Given the description of an element on the screen output the (x, y) to click on. 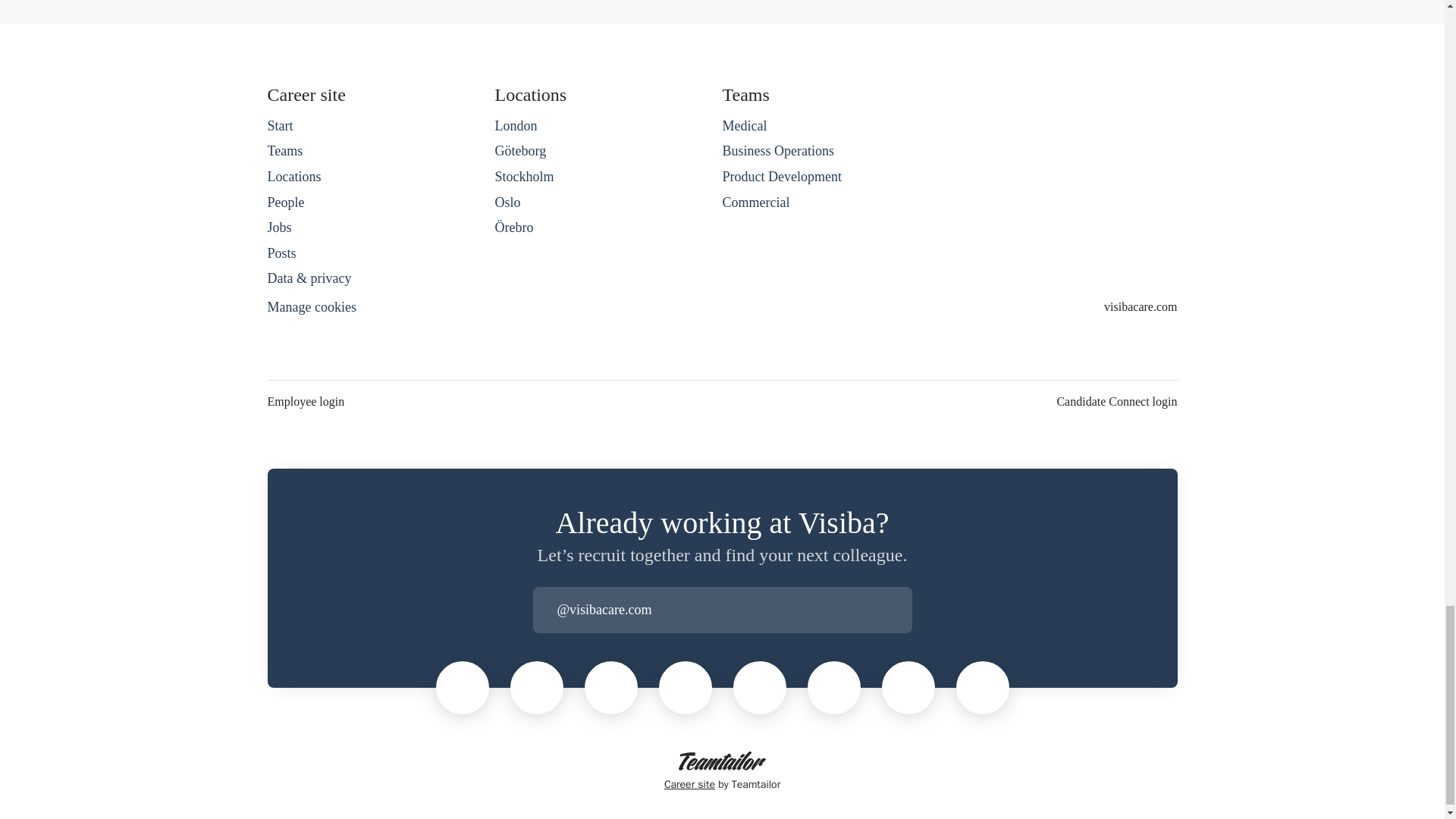
Jennie Lindell (685, 687)
Manage cookies (310, 307)
Log in (899, 609)
Jonas Carlsson (610, 687)
Start (279, 125)
Samuel Sporrenstrand (536, 687)
Carolina Berglund (982, 687)
London (516, 125)
Teams (284, 150)
Medical (744, 125)
Posts (280, 252)
Stockholm (524, 176)
Emilia Roos (908, 687)
Oslo (507, 201)
Jobs (278, 227)
